Given the description of an element on the screen output the (x, y) to click on. 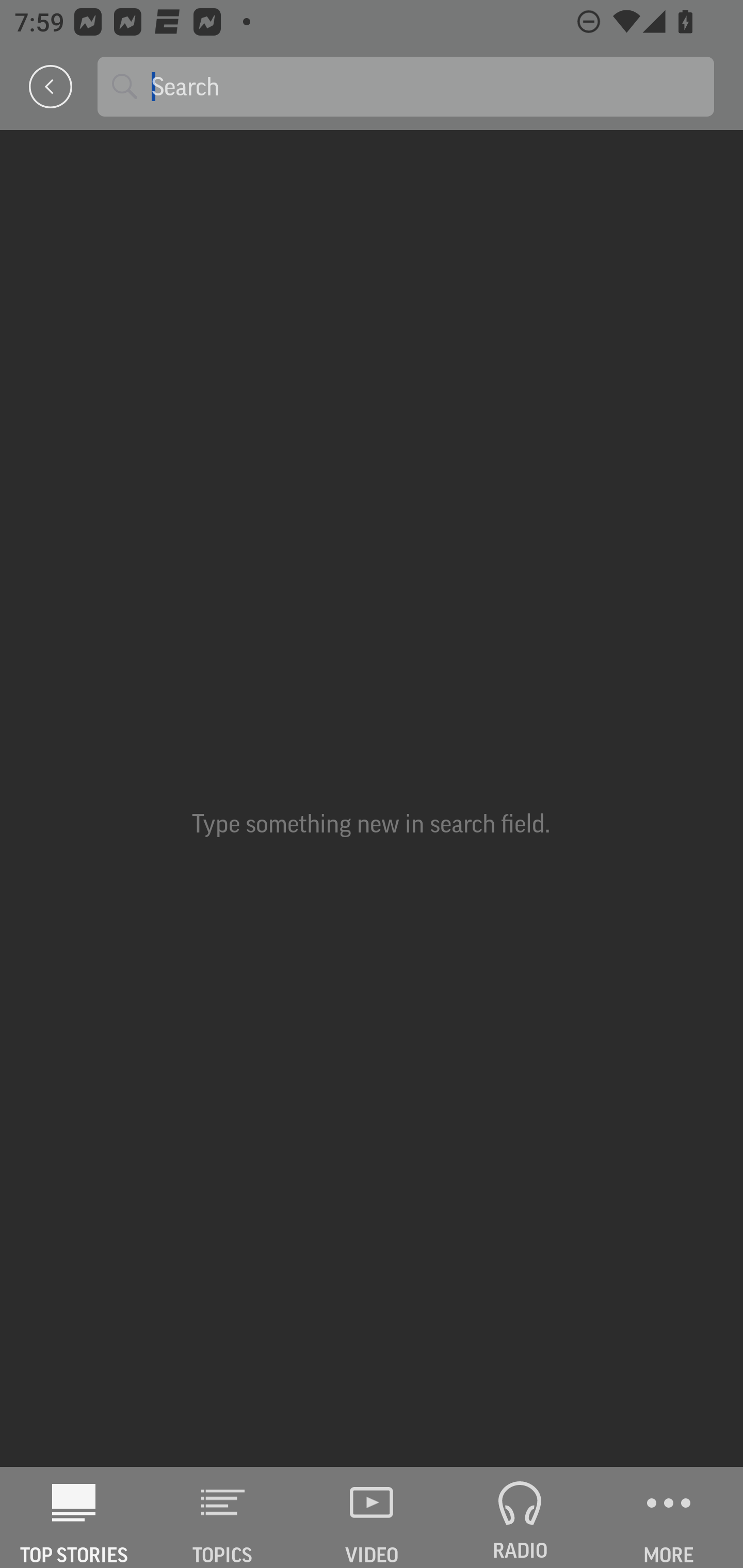
Search (425, 86)
AP News TOP STORIES (74, 1517)
TOPICS (222, 1517)
VIDEO (371, 1517)
RADIO (519, 1517)
MORE (668, 1517)
